Given the description of an element on the screen output the (x, y) to click on. 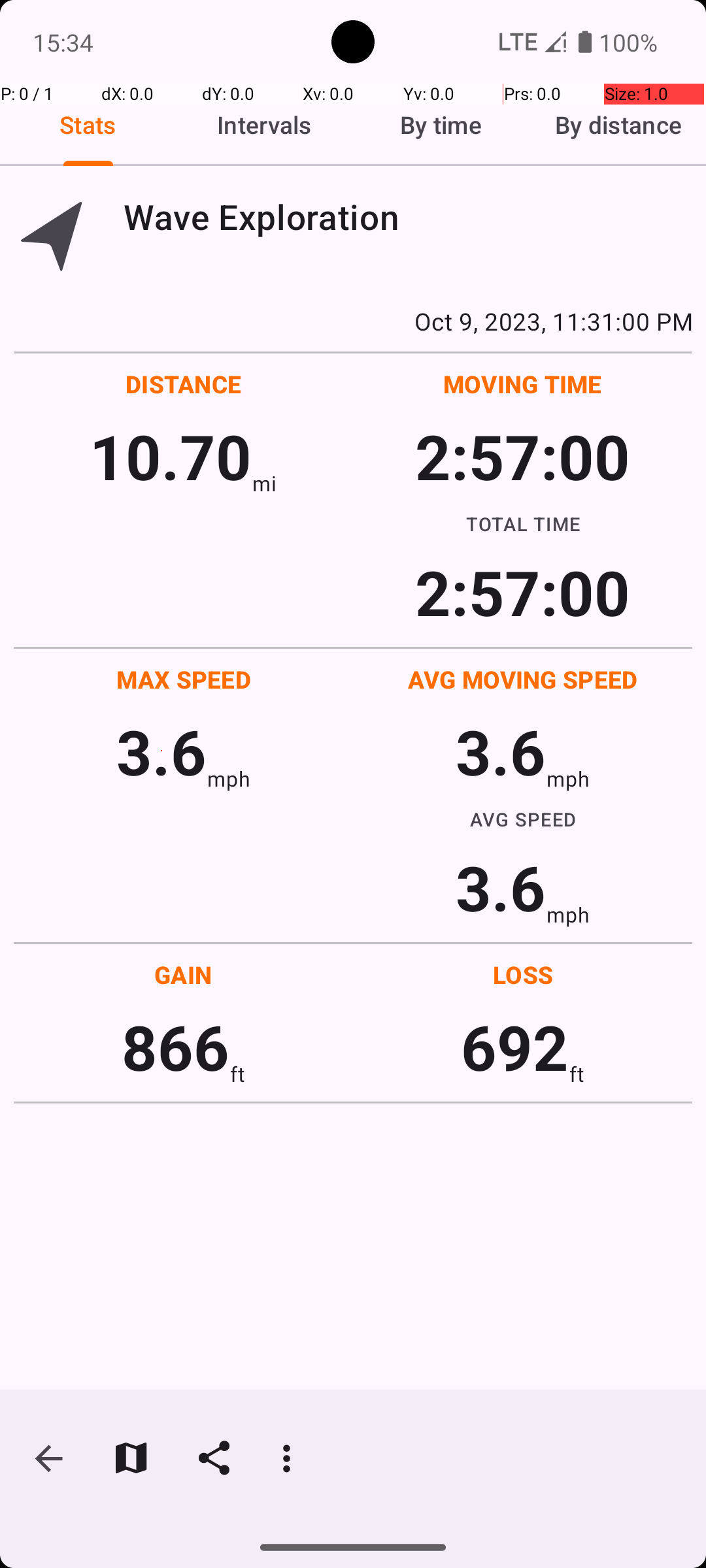
Wave Exploration Element type: android.widget.TextView (407, 216)
Oct 9, 2023, 11:31:00 PM Element type: android.widget.TextView (352, 320)
10.70 Element type: android.widget.TextView (170, 455)
2:57:00 Element type: android.widget.TextView (522, 455)
3.6 Element type: android.widget.TextView (161, 750)
866 Element type: android.widget.TextView (175, 1045)
692 Element type: android.widget.TextView (514, 1045)
